Given the description of an element on the screen output the (x, y) to click on. 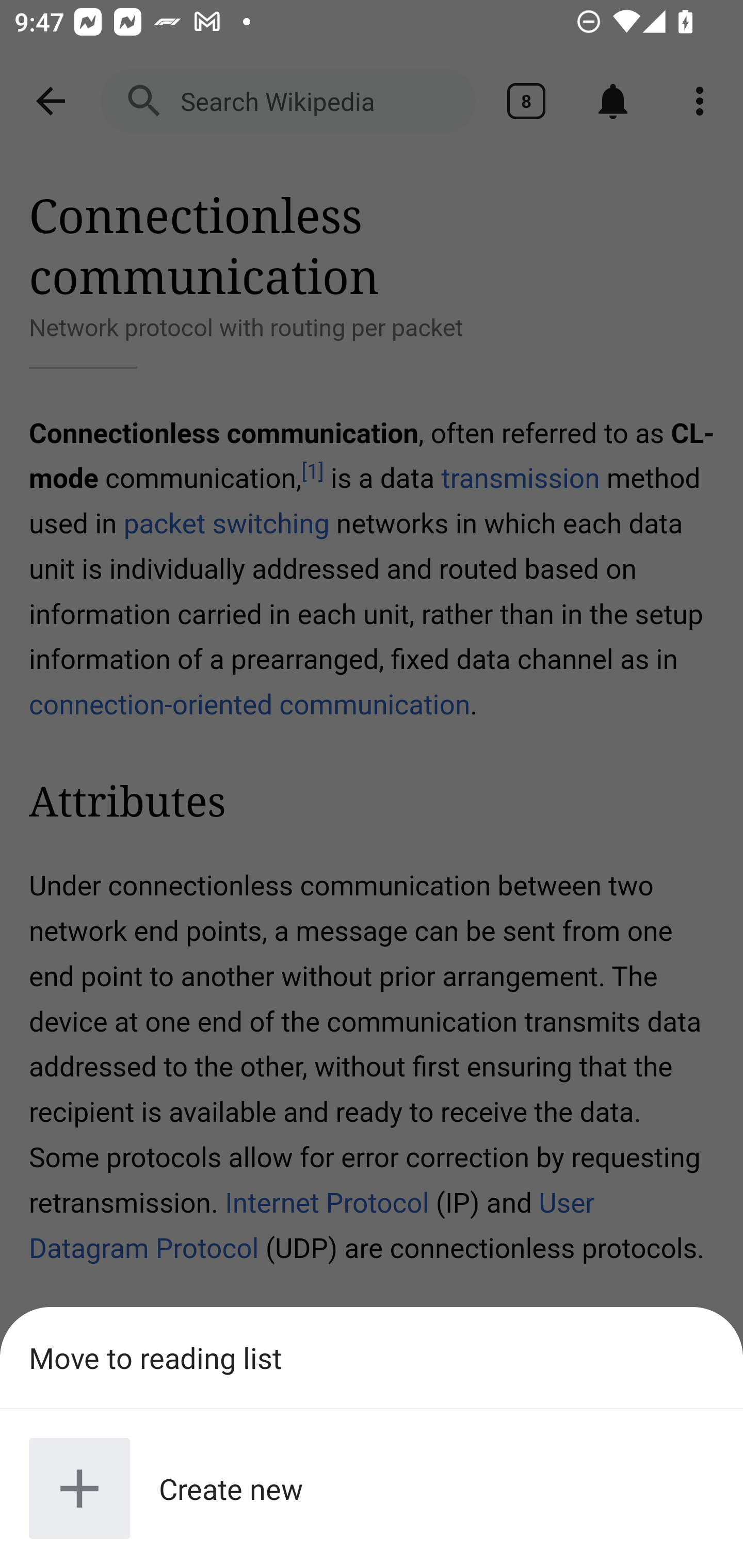
Create new (371, 1488)
